Given the description of an element on the screen output the (x, y) to click on. 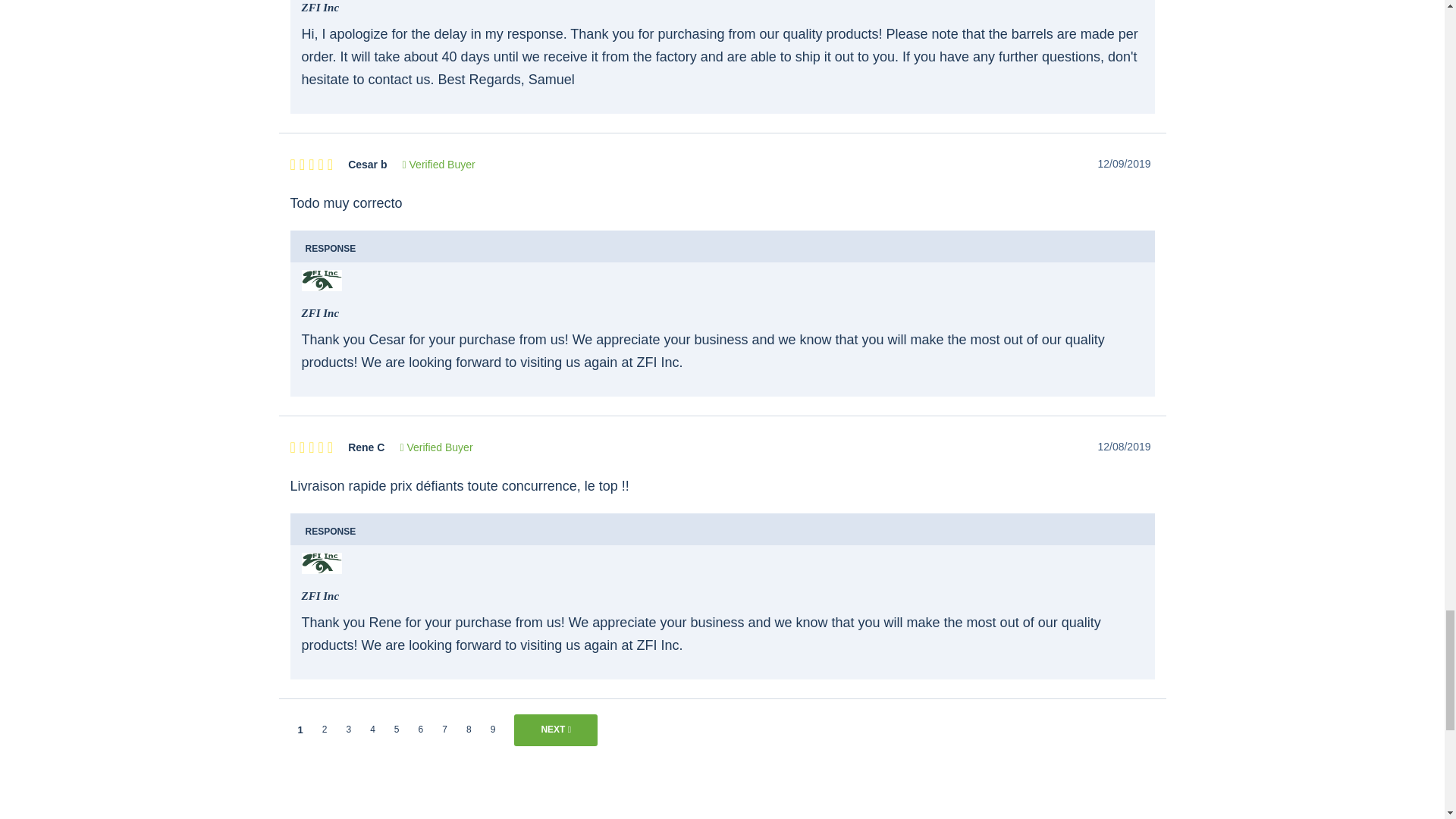
Page (324, 728)
Page (348, 728)
Page (396, 728)
Page (372, 728)
Current page (299, 729)
